Given the description of an element on the screen output the (x, y) to click on. 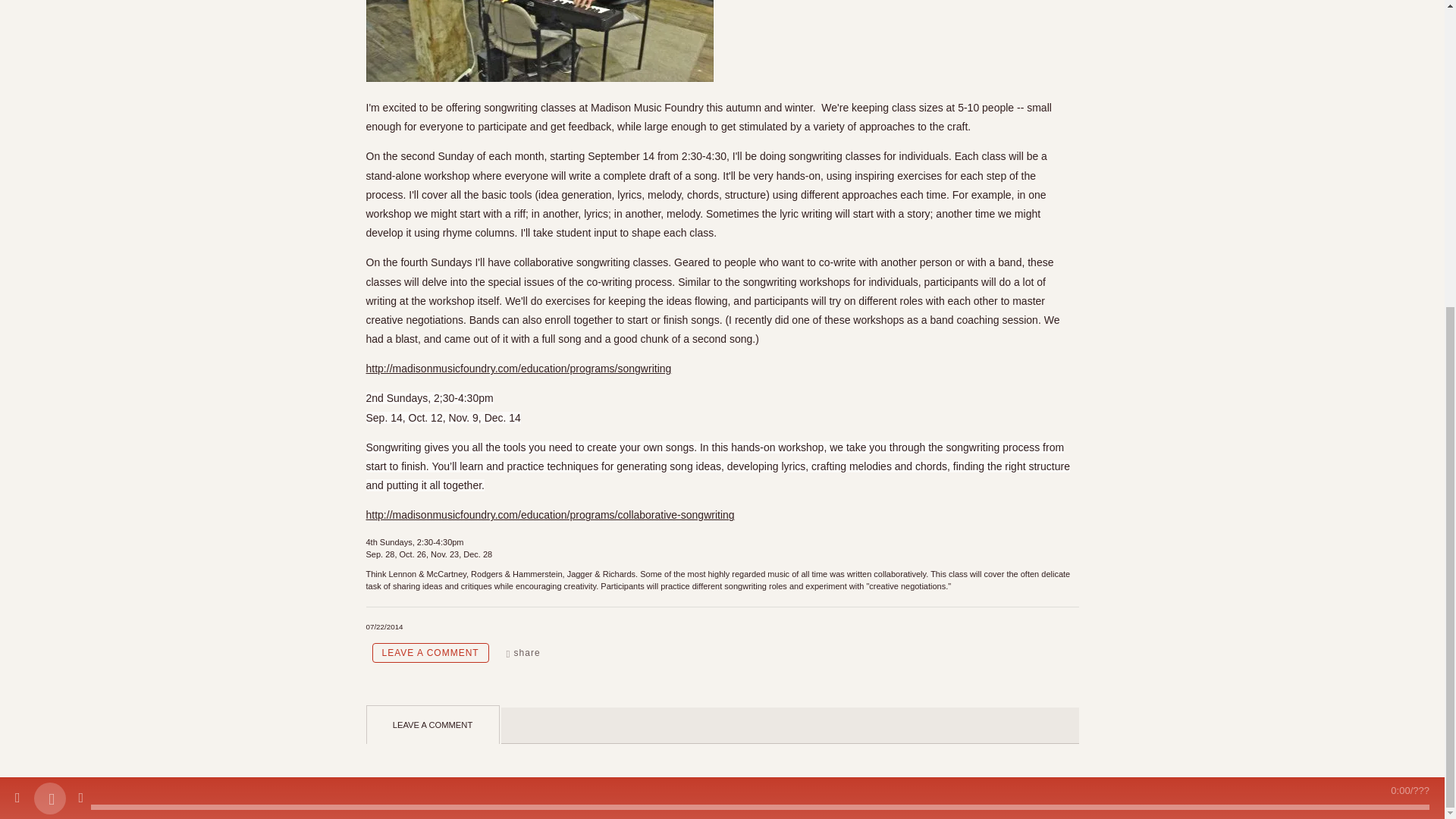
Songwriting at Madison Music Foundry (518, 368)
Share Songwriting Classes (522, 652)
July 22, 2014 19:00 (384, 626)
Leave a comment (429, 652)
